Given the description of an element on the screen output the (x, y) to click on. 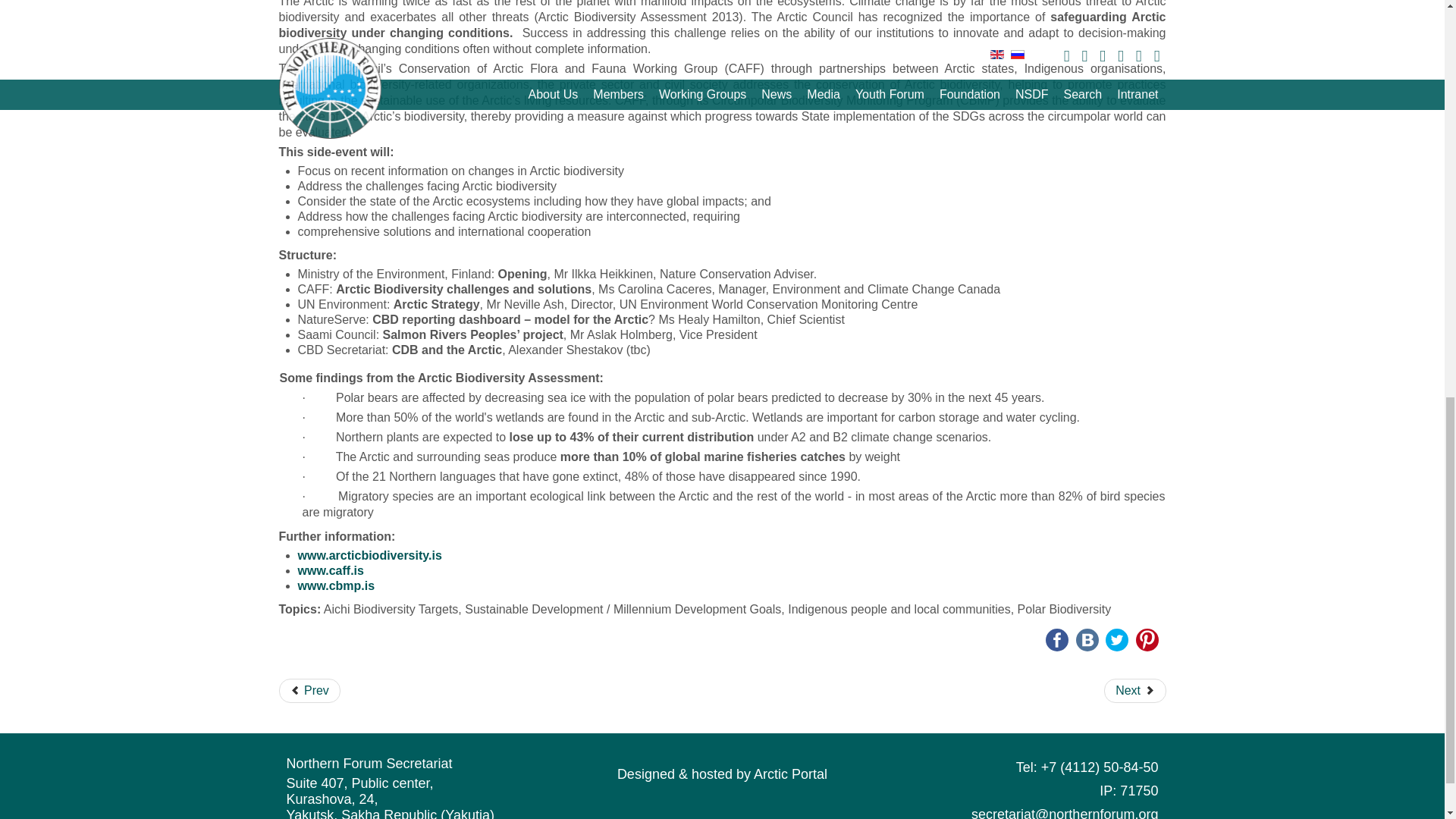
Vkontakte (1087, 639)
FaceBook (1056, 639)
Arctic Portal (722, 773)
Pinterest (1146, 639)
Twitter (1116, 639)
